Given the description of an element on the screen output the (x, y) to click on. 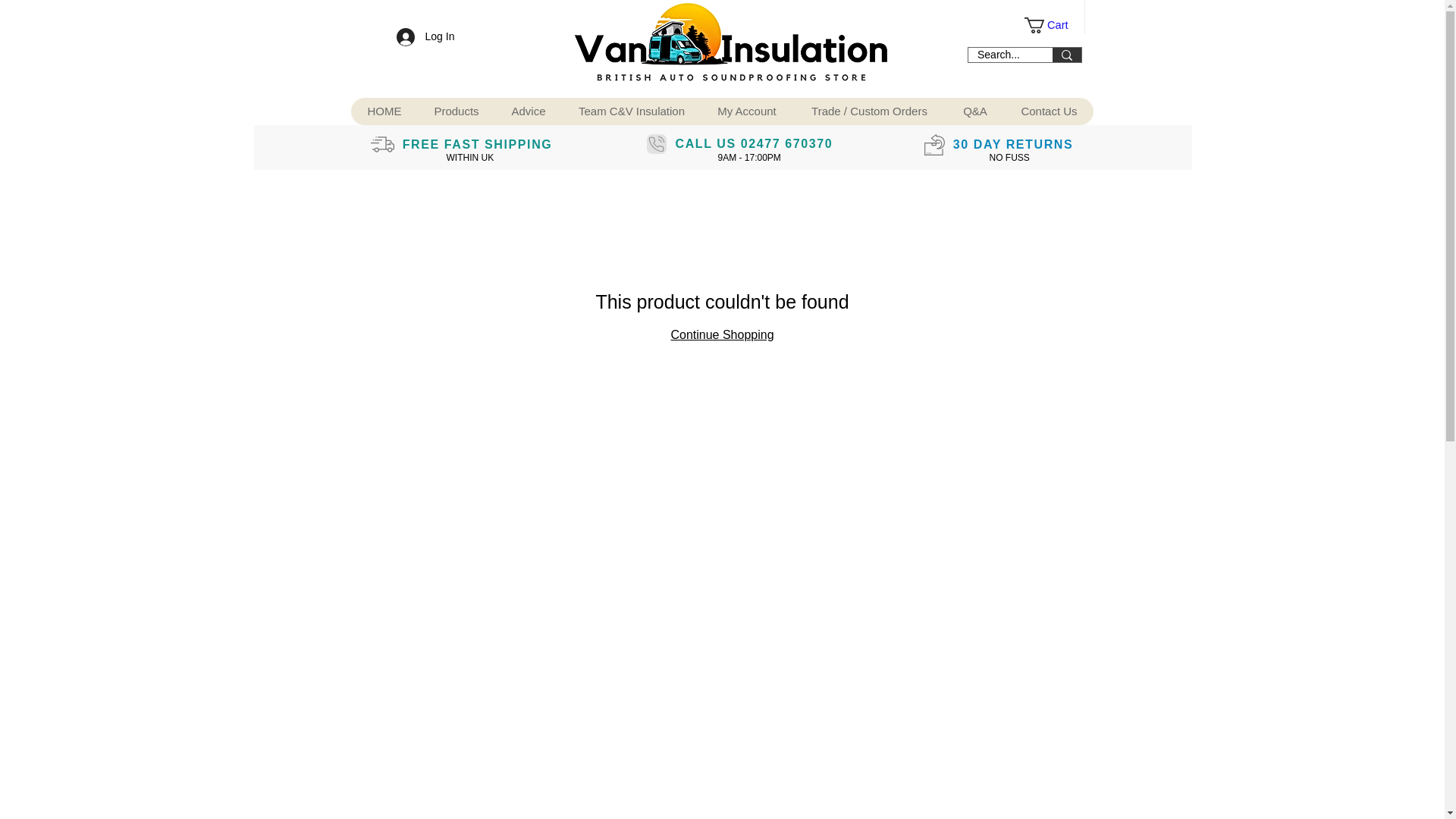
Log In (415, 36)
Contact Us (1048, 111)
Cart (1053, 25)
Advice (528, 111)
My Account (746, 111)
Cart (1053, 25)
Continue Shopping (721, 334)
HOME (383, 111)
